Given the description of an element on the screen output the (x, y) to click on. 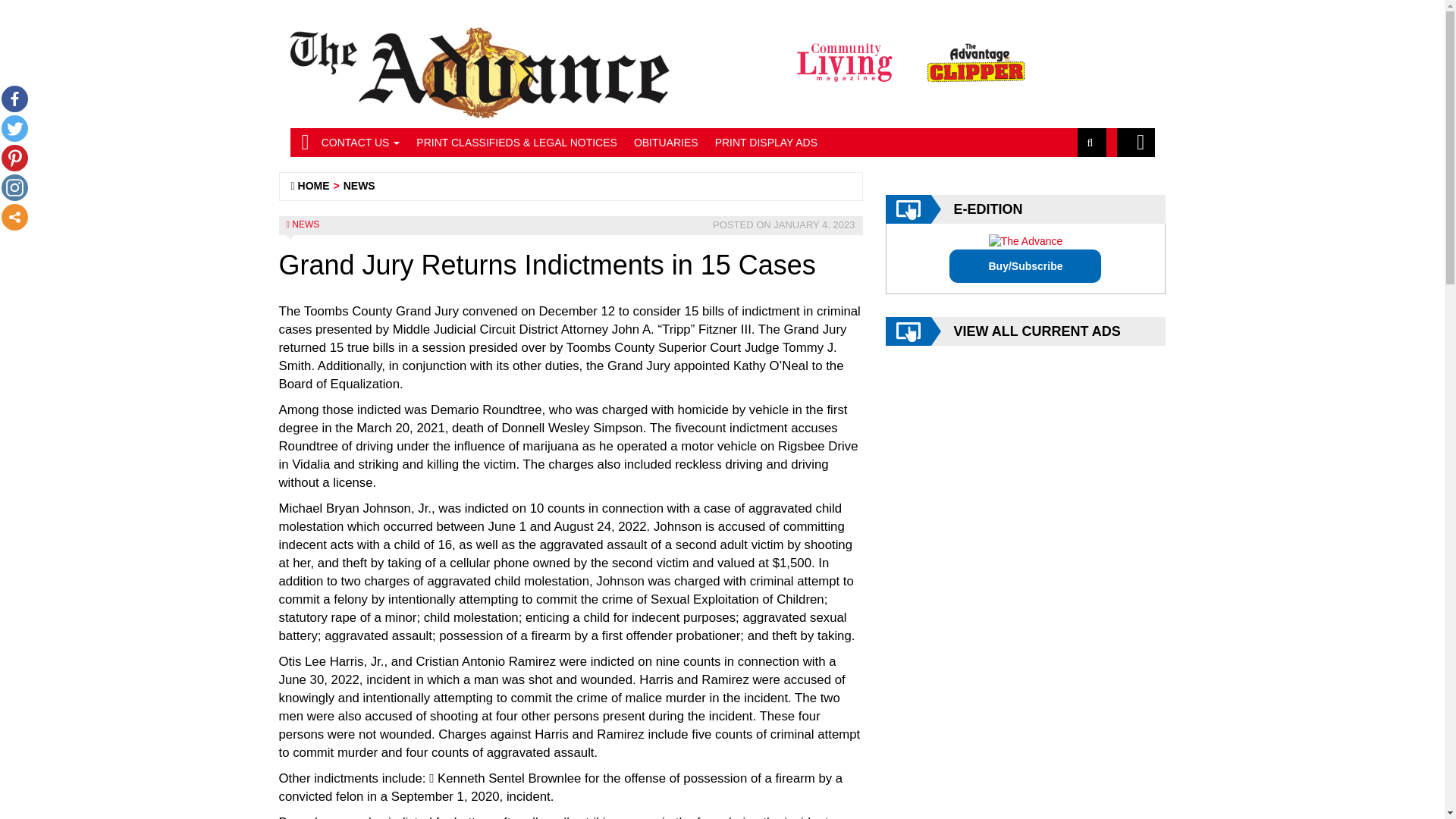
PRINT DISPLAY ADS (765, 142)
Contact Us (361, 142)
Pinterest (14, 157)
NEWS (359, 185)
OBITUARIES (666, 142)
Print Display Ads (765, 142)
NEWS (305, 224)
Twitter (14, 128)
Instagram (14, 187)
ALL SECTIONS (1135, 142)
